Given the description of an element on the screen output the (x, y) to click on. 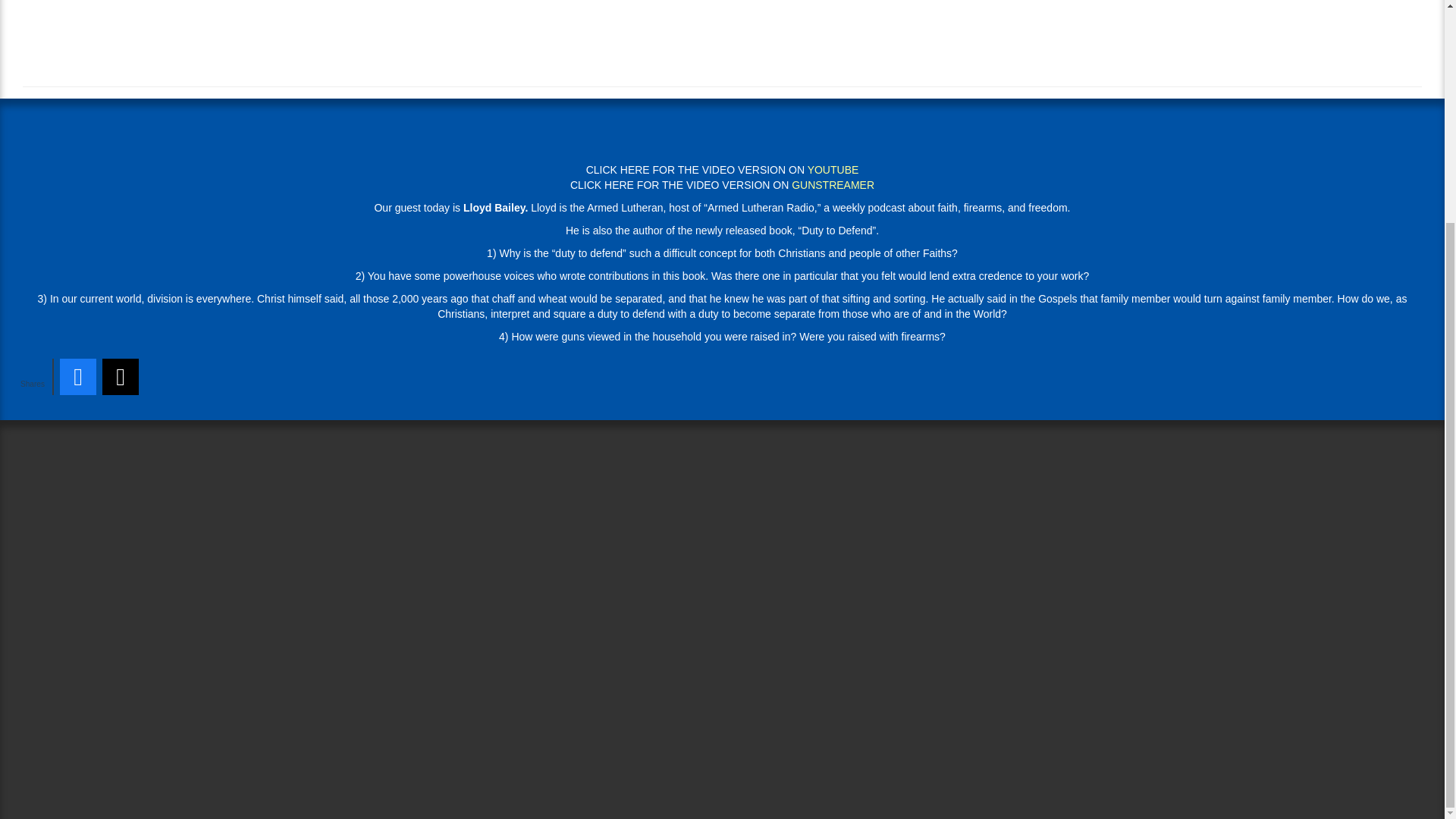
Share this article on Facebook (77, 376)
YOUTUBE (833, 169)
Total:  (32, 376)
GUNSTREAMER (833, 184)
Share this article on X (119, 376)
